Given the description of an element on the screen output the (x, y) to click on. 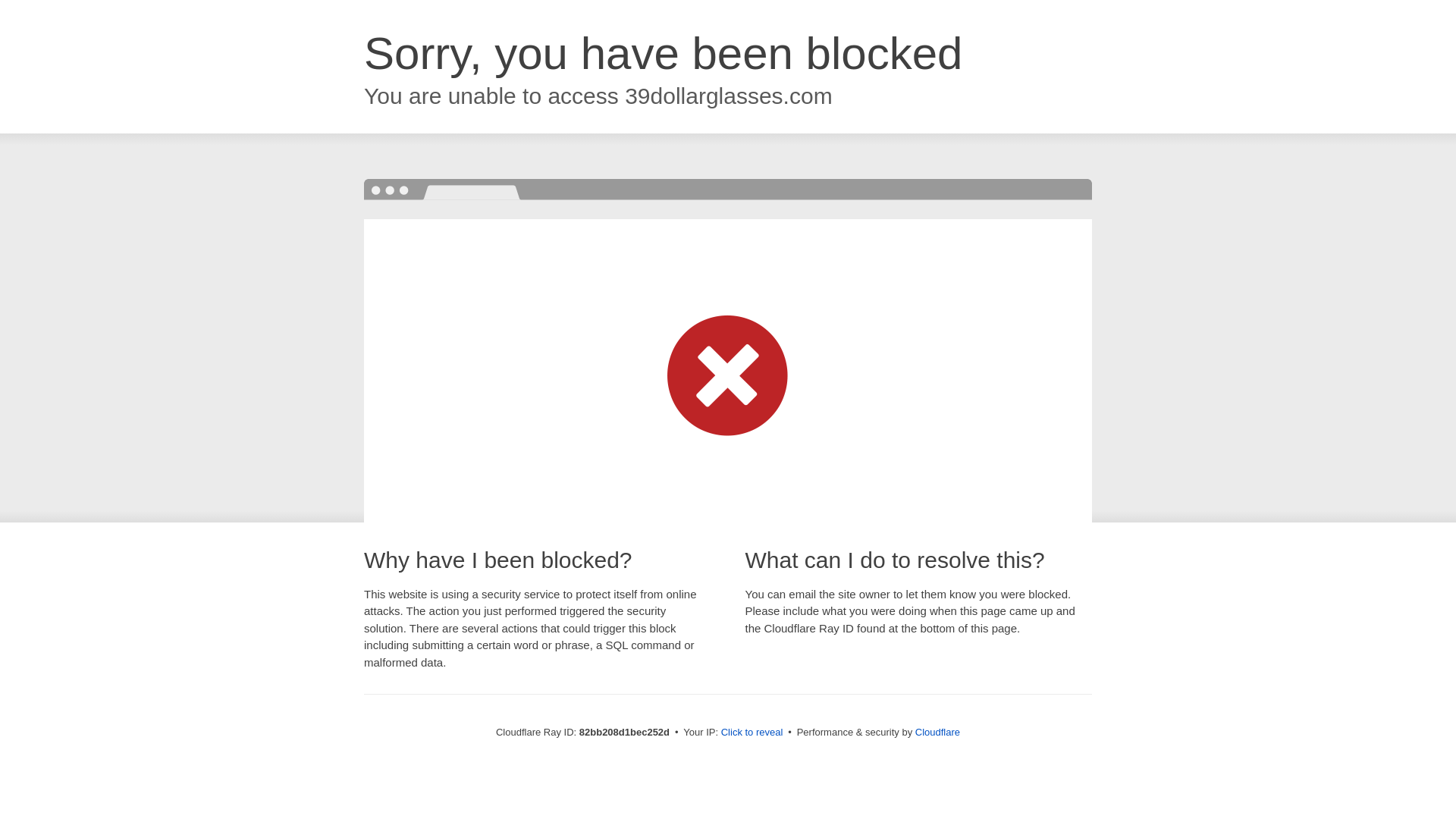
Cloudflare Element type: text (937, 731)
Click to reveal Element type: text (752, 732)
